Given the description of an element on the screen output the (x, y) to click on. 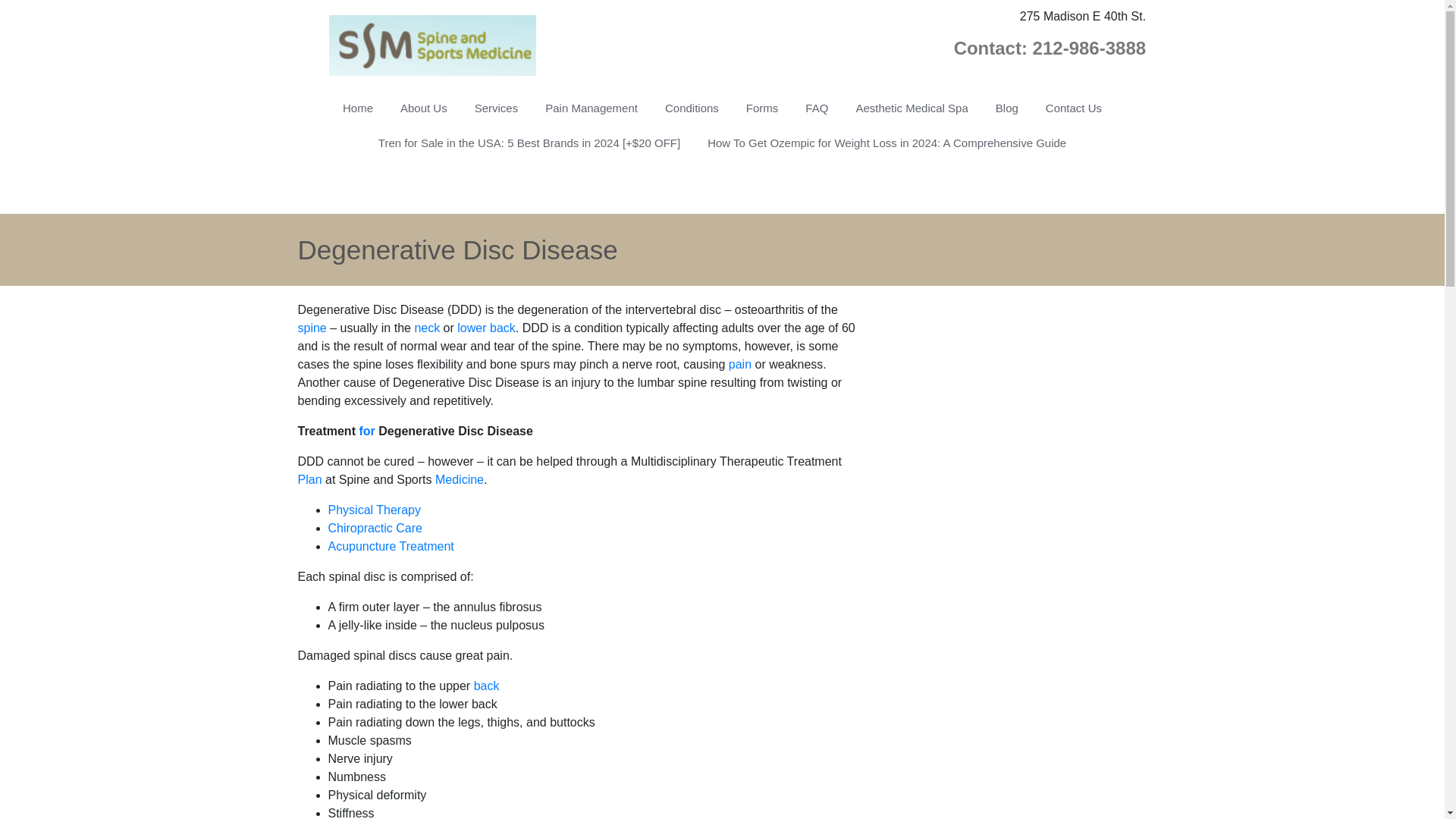
About Us (424, 108)
Home (358, 108)
Services (496, 108)
Pain Management (590, 108)
